Given the description of an element on the screen output the (x, y) to click on. 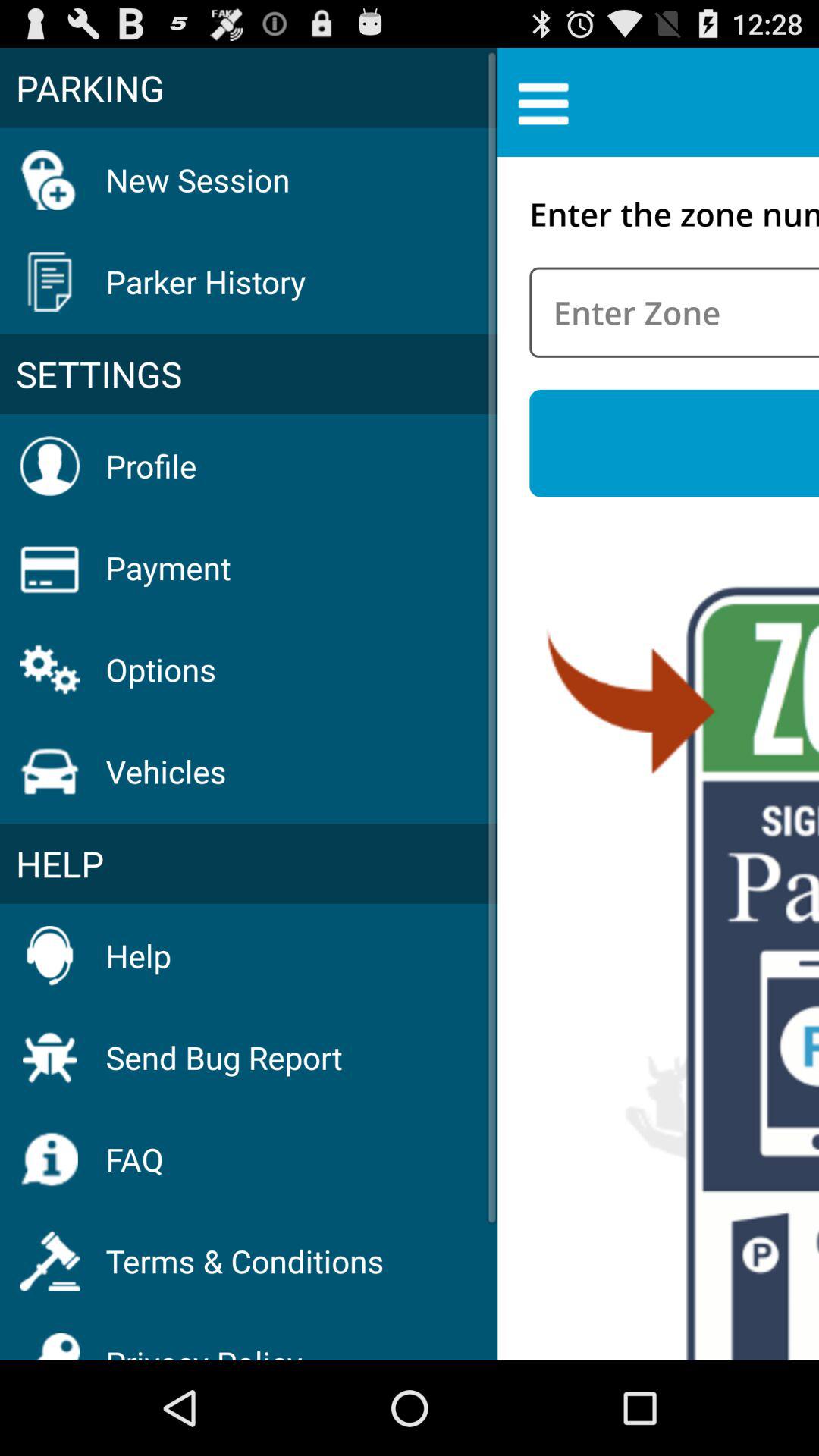
launch the item below profile (167, 567)
